Given the description of an element on the screen output the (x, y) to click on. 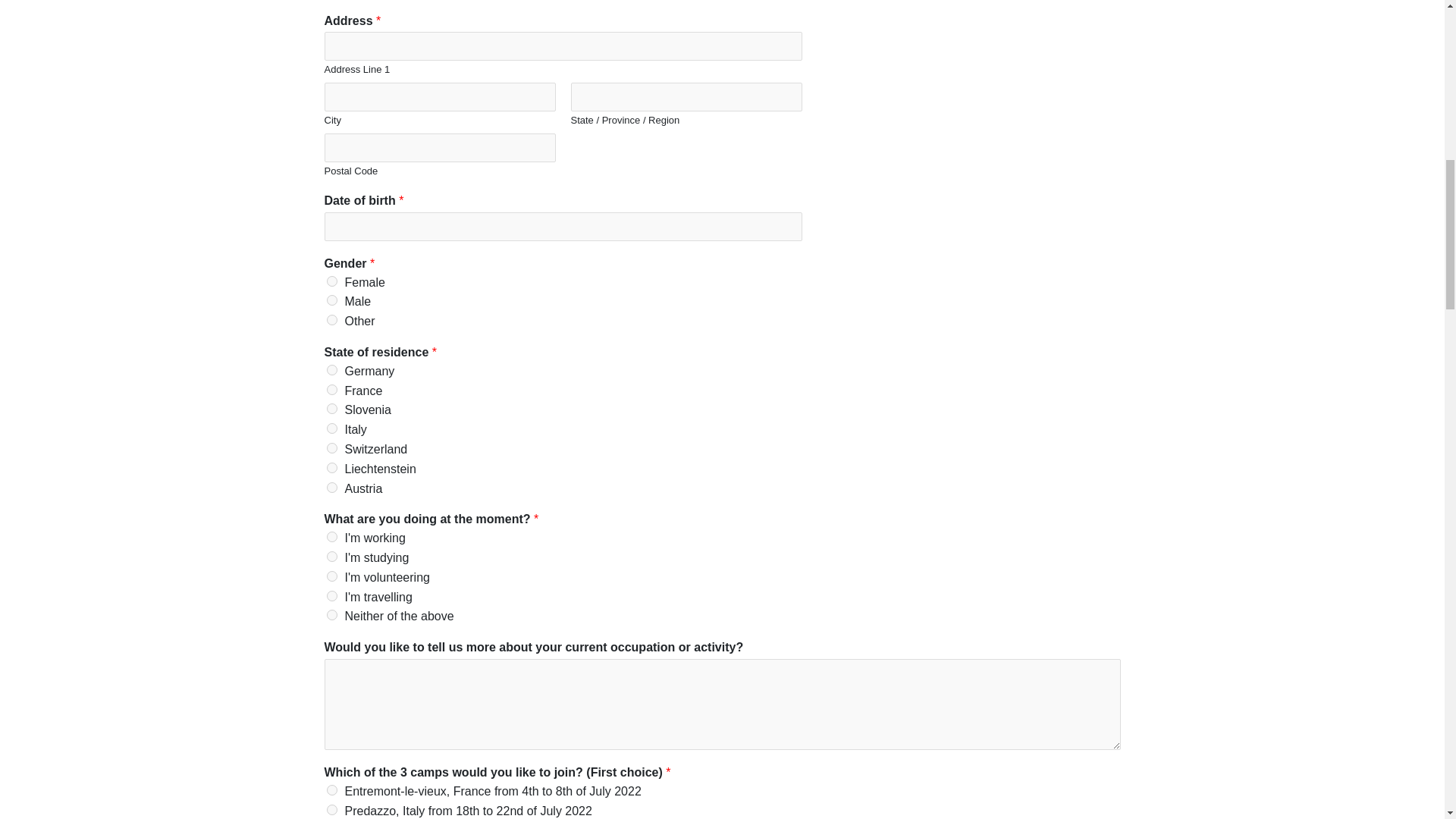
Female (331, 281)
Austria (331, 487)
Liechtenstein (331, 467)
I'm working (331, 536)
Italy (331, 428)
Germany (331, 369)
Slovenia (331, 408)
Male (331, 299)
France (331, 389)
Other (331, 319)
Switzerland (331, 448)
